Given the description of an element on the screen output the (x, y) to click on. 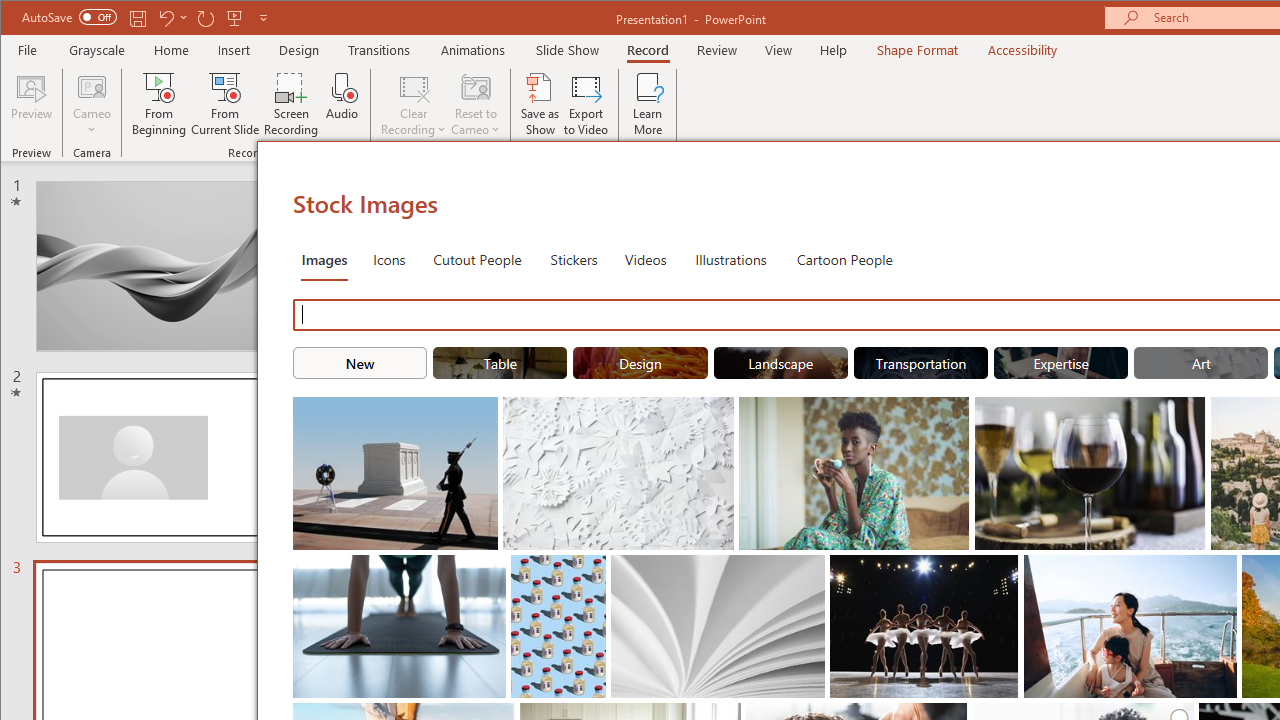
Stickers (574, 258)
